Given the description of an element on the screen output the (x, y) to click on. 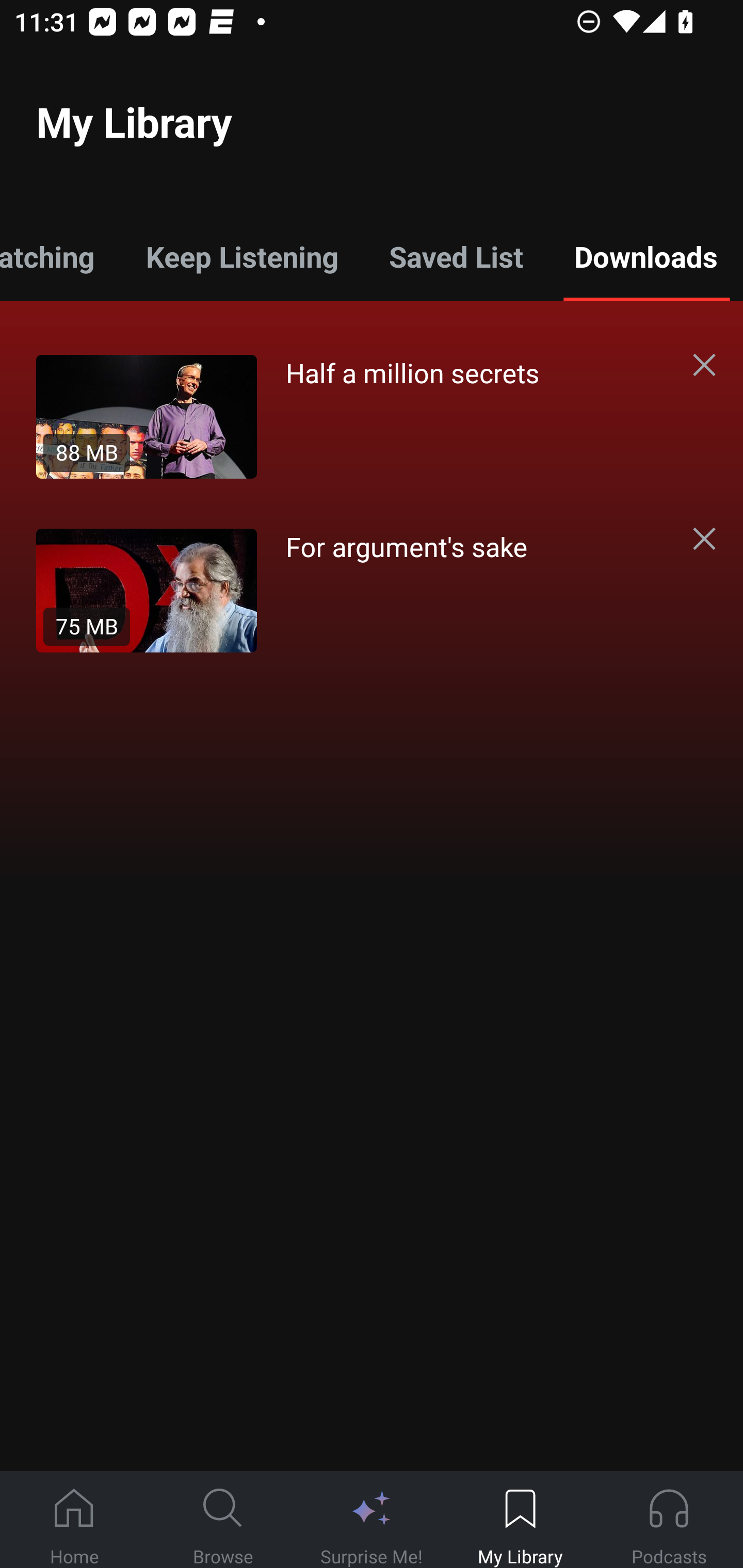
Keep Watching (60, 256)
Keep Listening (242, 256)
Saved List (456, 256)
Downloads (646, 256)
88 MB Half a million secrets (353, 416)
75 MB For argument's sake (353, 590)
Home (74, 1520)
Browse (222, 1520)
Surprise Me! (371, 1520)
My Library (519, 1520)
Podcasts (668, 1520)
